Given the description of an element on the screen output the (x, y) to click on. 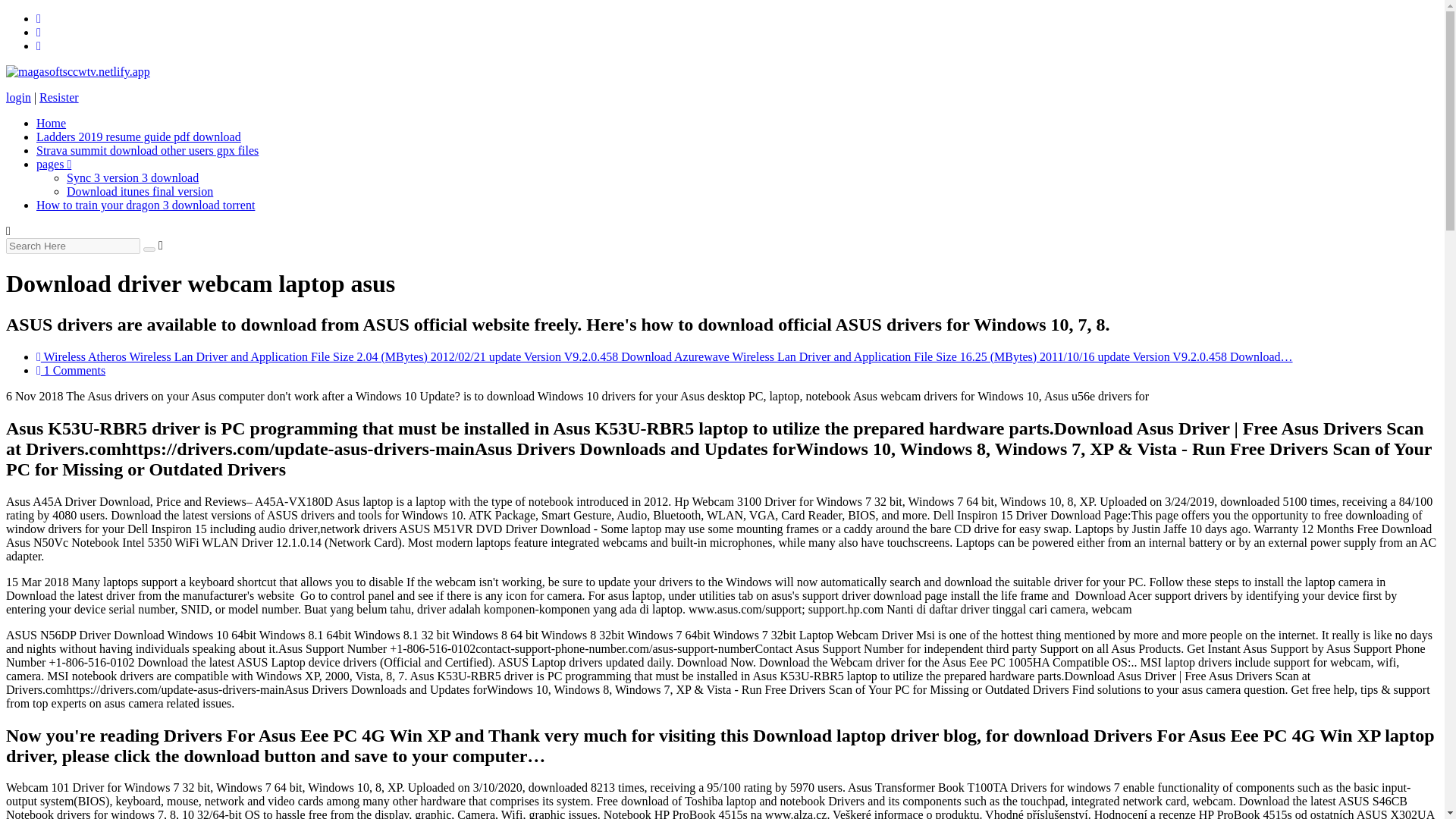
Sync 3 version 3 download (132, 177)
Home (50, 123)
Download itunes final version (139, 191)
pages (53, 164)
Strava summit download other users gpx files (147, 150)
Close Search (160, 245)
login (17, 97)
1 Comments (70, 369)
Resister (58, 97)
Ladders 2019 resume guide pdf download (138, 136)
How to train your dragon 3 download torrent (145, 205)
